Given the description of an element on the screen output the (x, y) to click on. 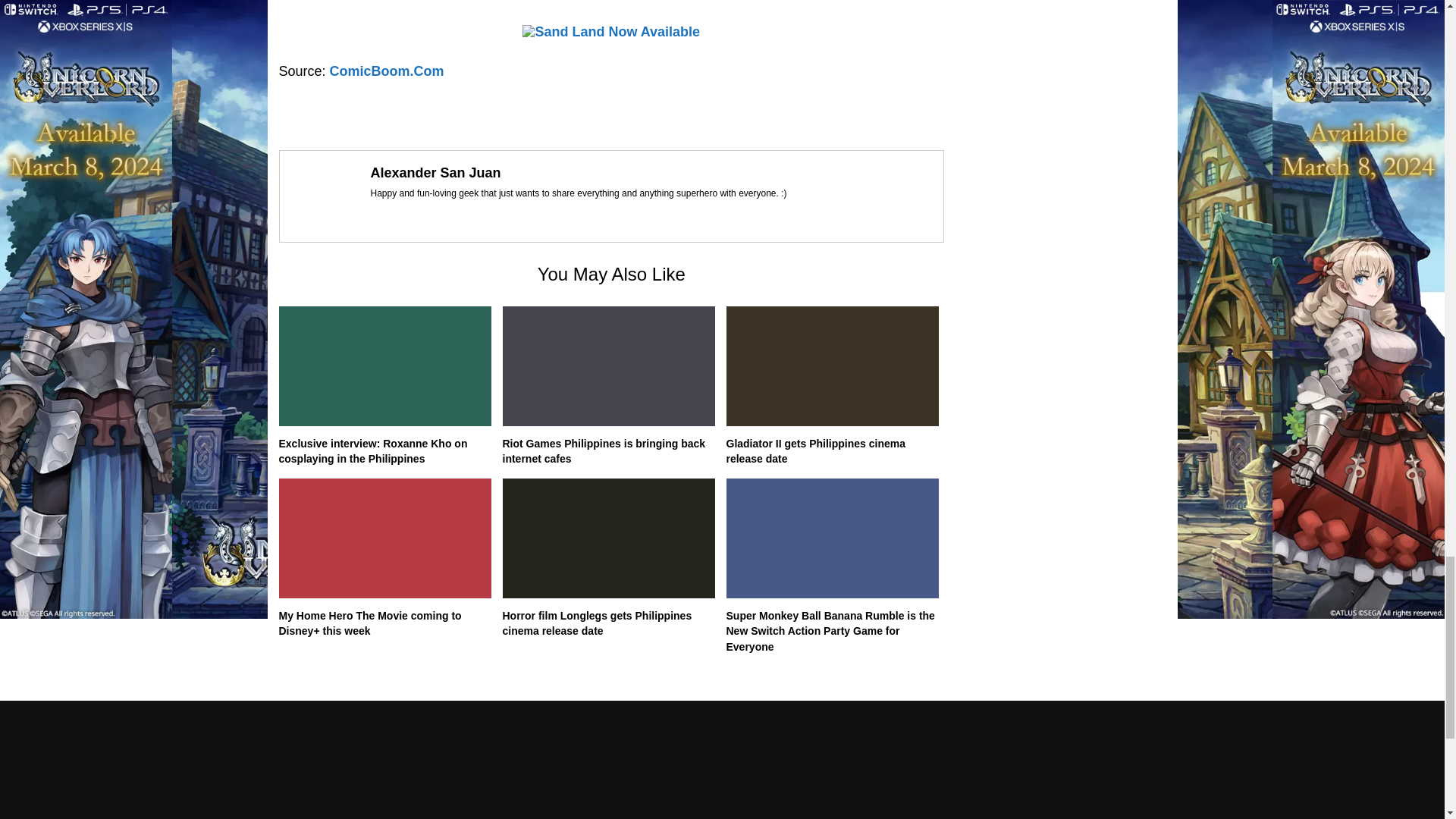
Riot Games Philippines is bringing back internet cafes (603, 451)
Horror film Longlegs gets Philippines cinema release date (596, 623)
Gladiator II gets Philippines cinema release date (815, 451)
ComicBoom.Com (387, 70)
Alexander San Juan (434, 172)
